Given the description of an element on the screen output the (x, y) to click on. 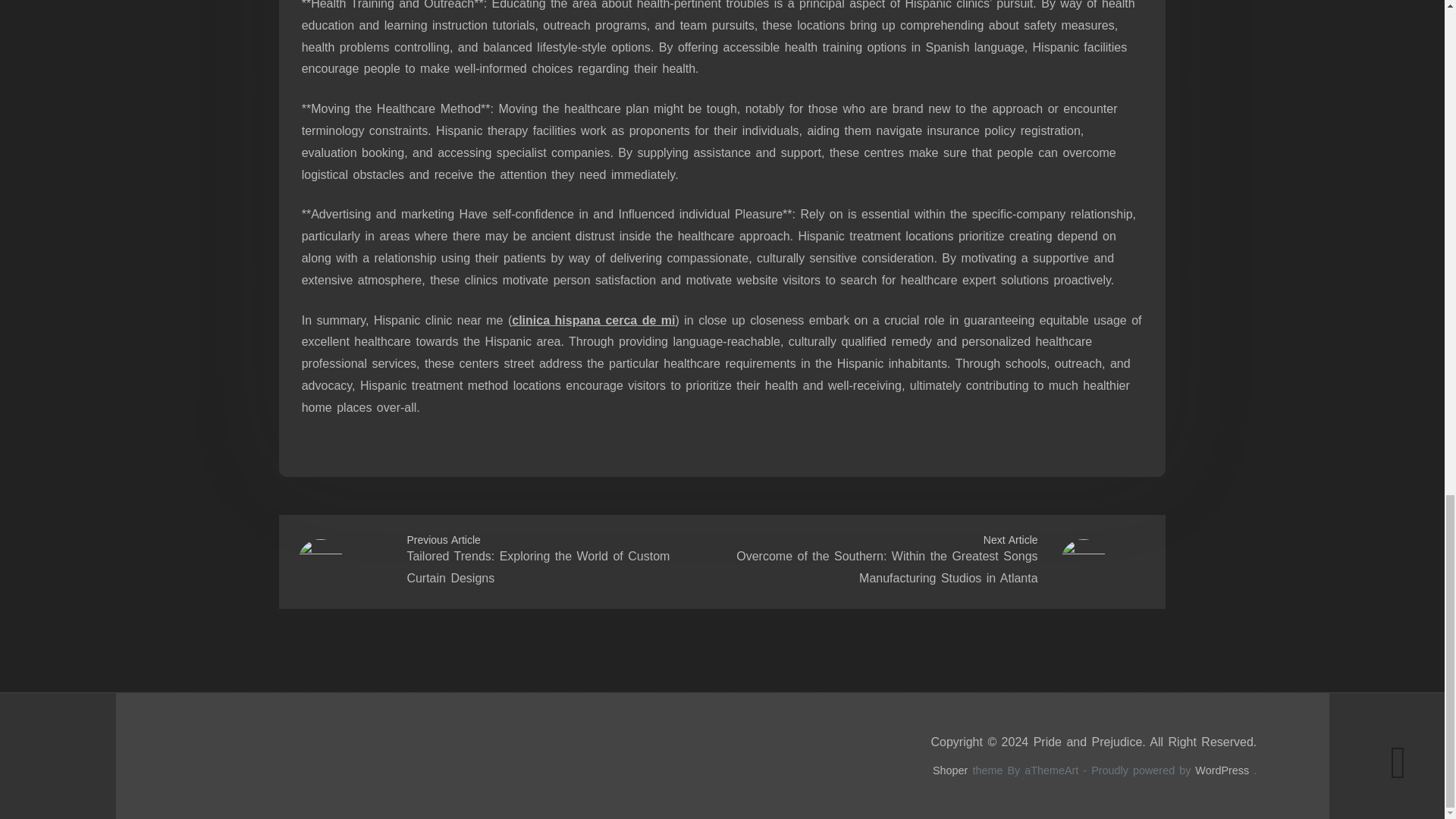
Shoper (950, 770)
clinica hispana cerca de mi (593, 319)
WordPress (1222, 770)
